Given the description of an element on the screen output the (x, y) to click on. 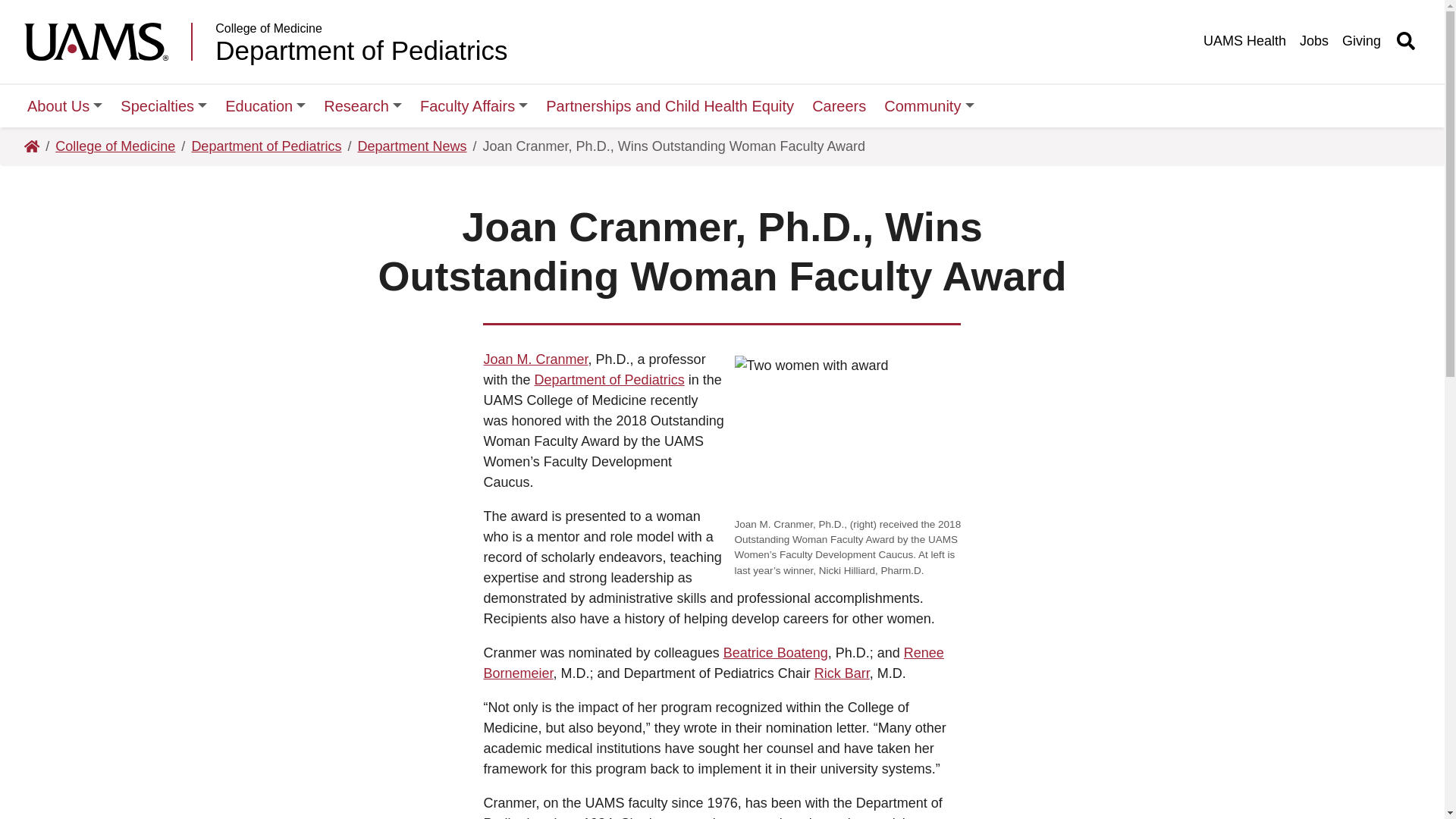
About Us (64, 106)
About Us (64, 106)
Toggle Search (1406, 40)
University of Arkansas for Medical Sciences (108, 41)
Specialties (163, 106)
Toggle Search (1406, 40)
Giving (1361, 40)
College of Medicine (360, 28)
Search (944, 15)
Department of Pediatrics (360, 50)
Jobs (1314, 40)
UAMS Health (1243, 40)
